Given the description of an element on the screen output the (x, y) to click on. 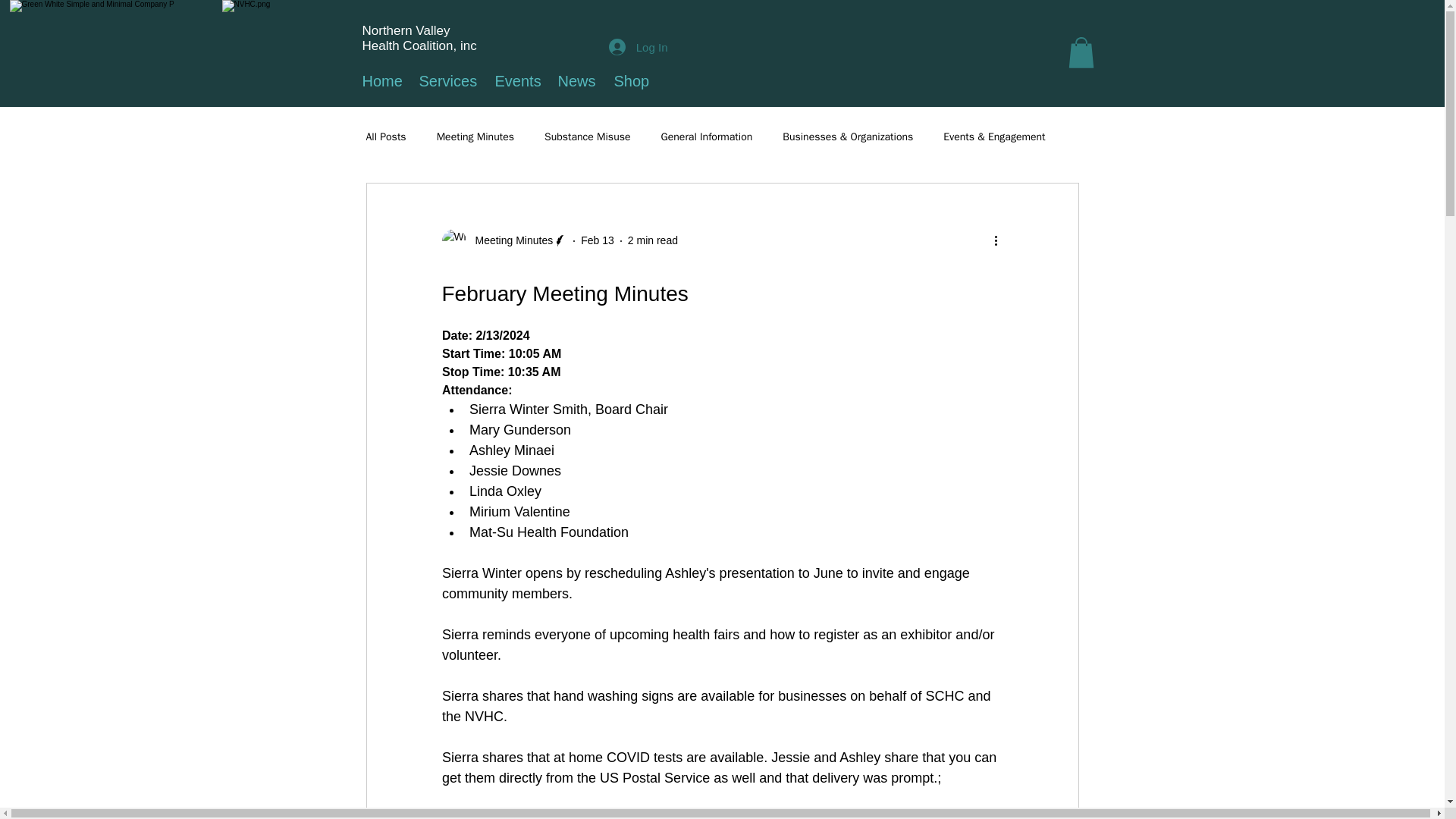
Home (378, 81)
Meeting Minutes (474, 137)
Services (445, 81)
Substance Misuse (587, 137)
General Information (706, 137)
Meeting Minutes (504, 241)
All Posts (385, 137)
Meeting Minutes (509, 240)
2 min read (652, 240)
Shop (627, 81)
News (574, 81)
Log In (638, 46)
Northern Valley (405, 30)
Feb 13 (597, 240)
Events (515, 81)
